Given the description of an element on the screen output the (x, y) to click on. 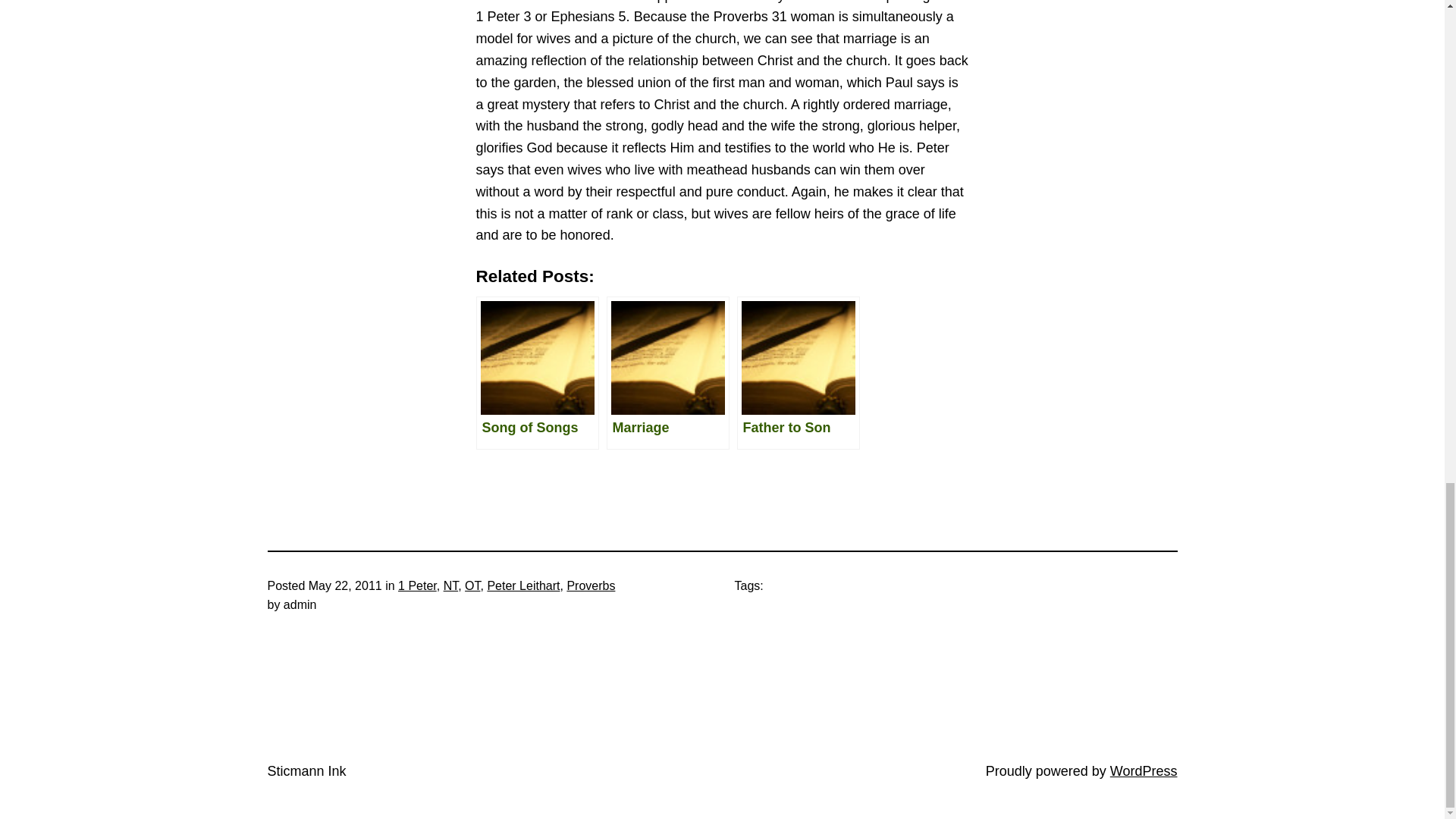
1 Peter (416, 585)
NT (451, 585)
Peter Leithart (522, 585)
Song of Songs (537, 372)
Sticmann Ink (306, 770)
Father to Son (798, 372)
Marriage (668, 372)
OT (472, 585)
WordPress (1143, 770)
Song of Songs (537, 372)
Marriage (668, 372)
Proverbs (590, 585)
Father to Son (798, 372)
